Given the description of an element on the screen output the (x, y) to click on. 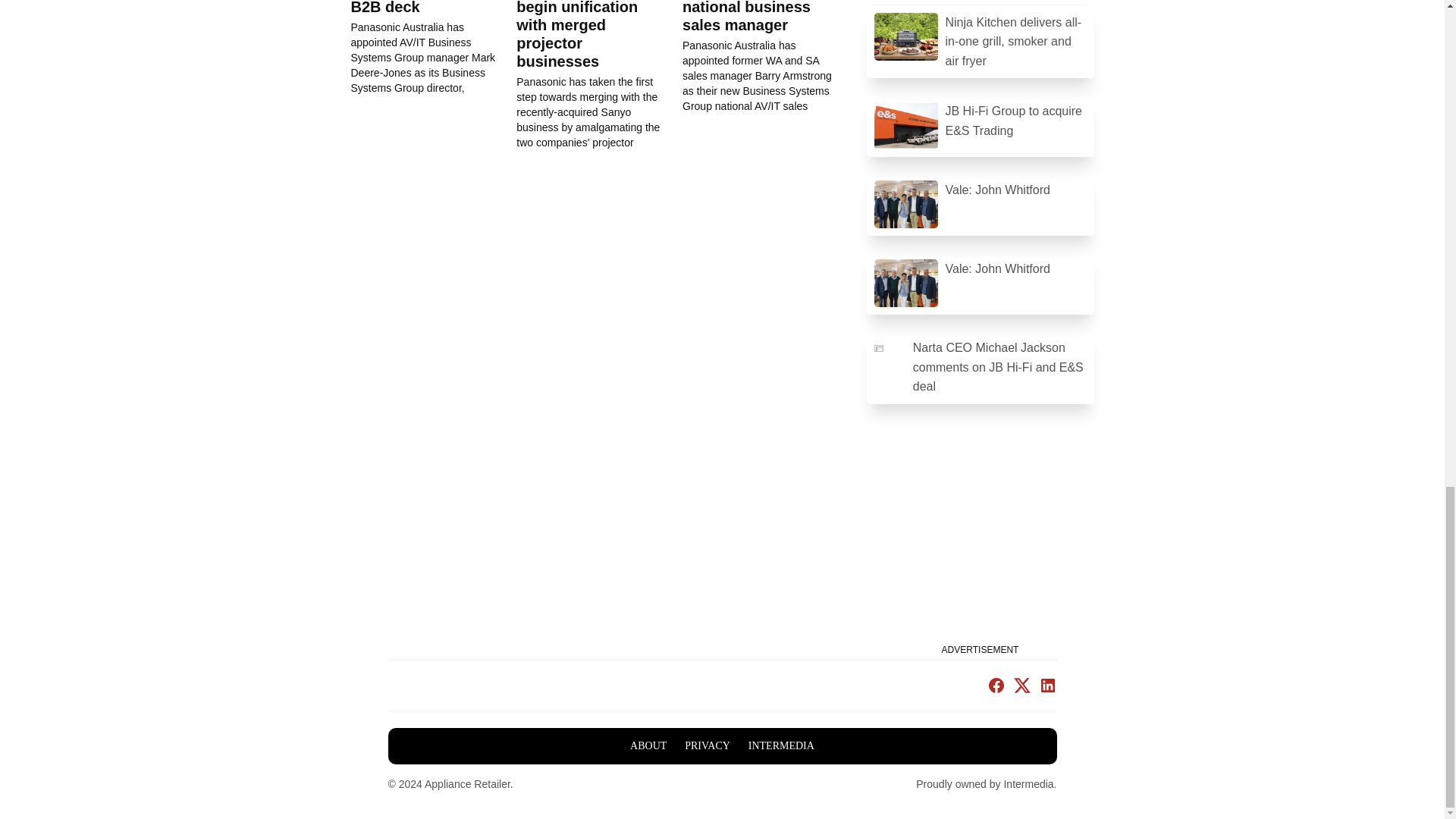
Panasonic shuffles B2B deck (418, 7)
Vale: John Whitford (979, 204)
Panasonic appoints national business sales manager (753, 16)
Panasonic appoints national business sales manager (765, 56)
Panasonic shuffles B2B deck (433, 47)
Vale: John Whitford (979, 283)
